Given the description of an element on the screen output the (x, y) to click on. 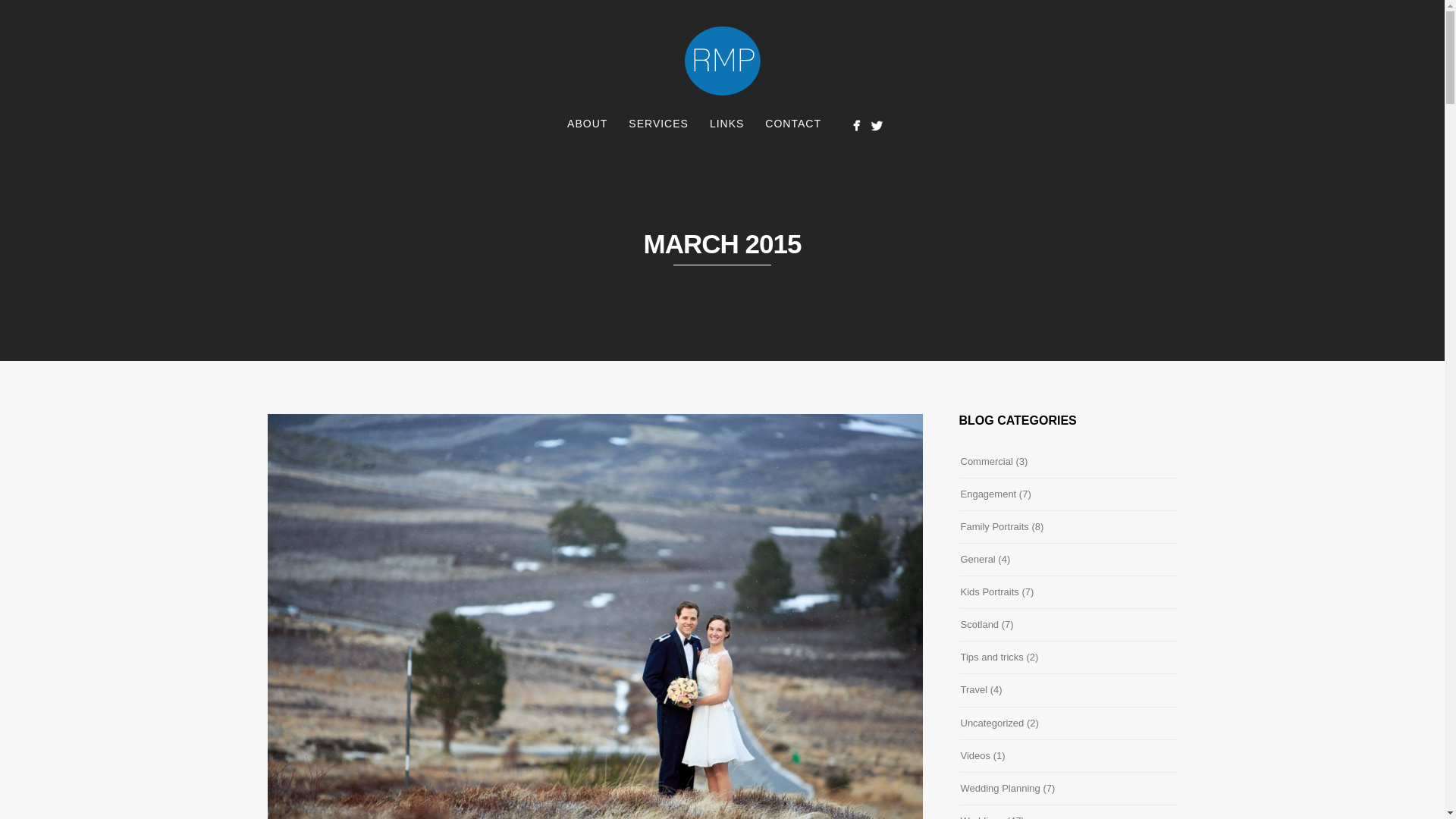
ABOUT (586, 124)
SERVICES (657, 124)
LINKS (726, 124)
CONTACT (792, 124)
